Given the description of an element on the screen output the (x, y) to click on. 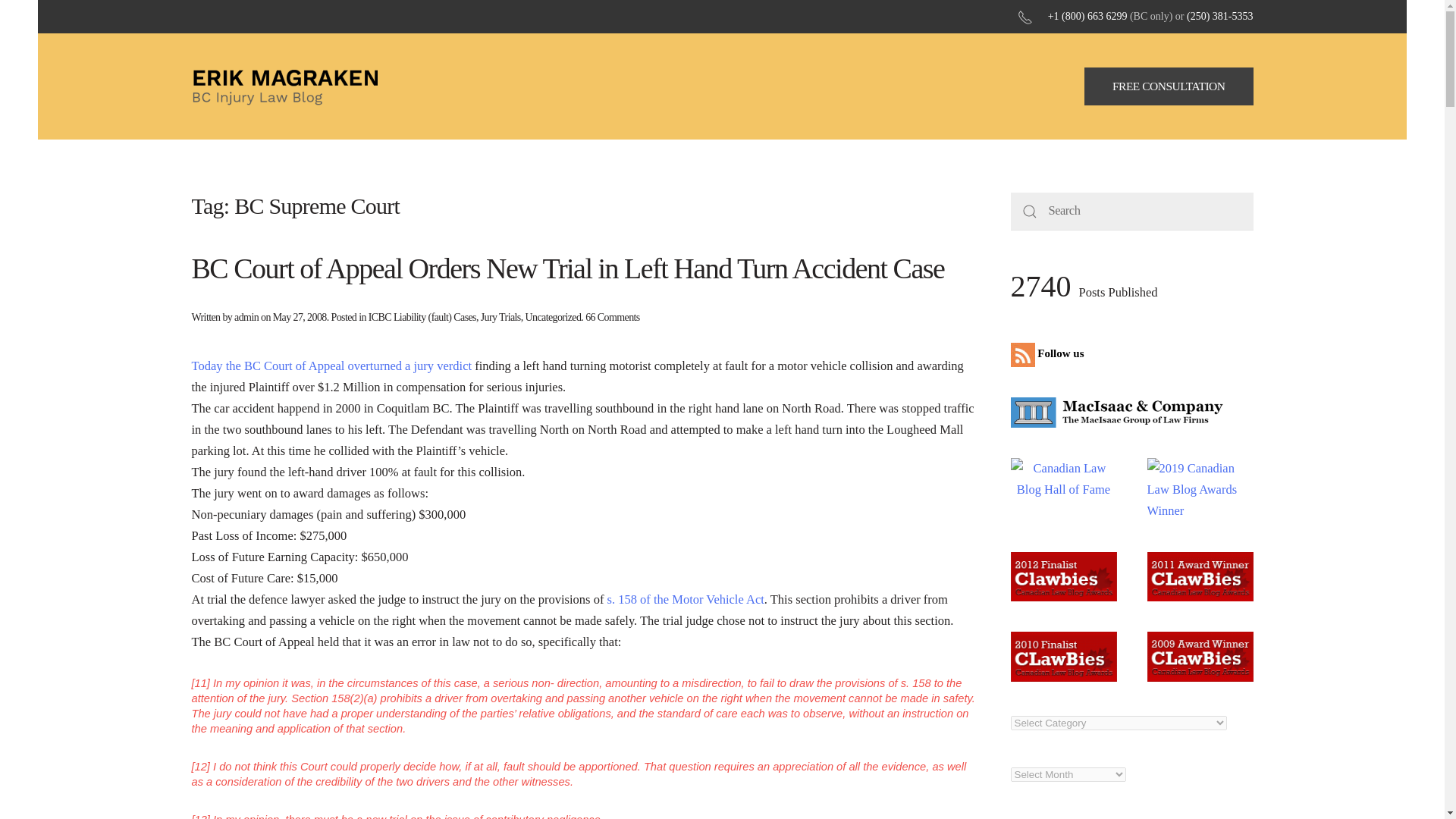
FREE CONSULTATION (1168, 86)
admin (246, 317)
Uncategorized (552, 317)
s. 158 of the Motor Vehicle Act (685, 599)
Follow us (1050, 353)
Today the BC Court of Appeal overturned a jury verdict (330, 365)
Jury Trials (500, 317)
